Given the description of an element on the screen output the (x, y) to click on. 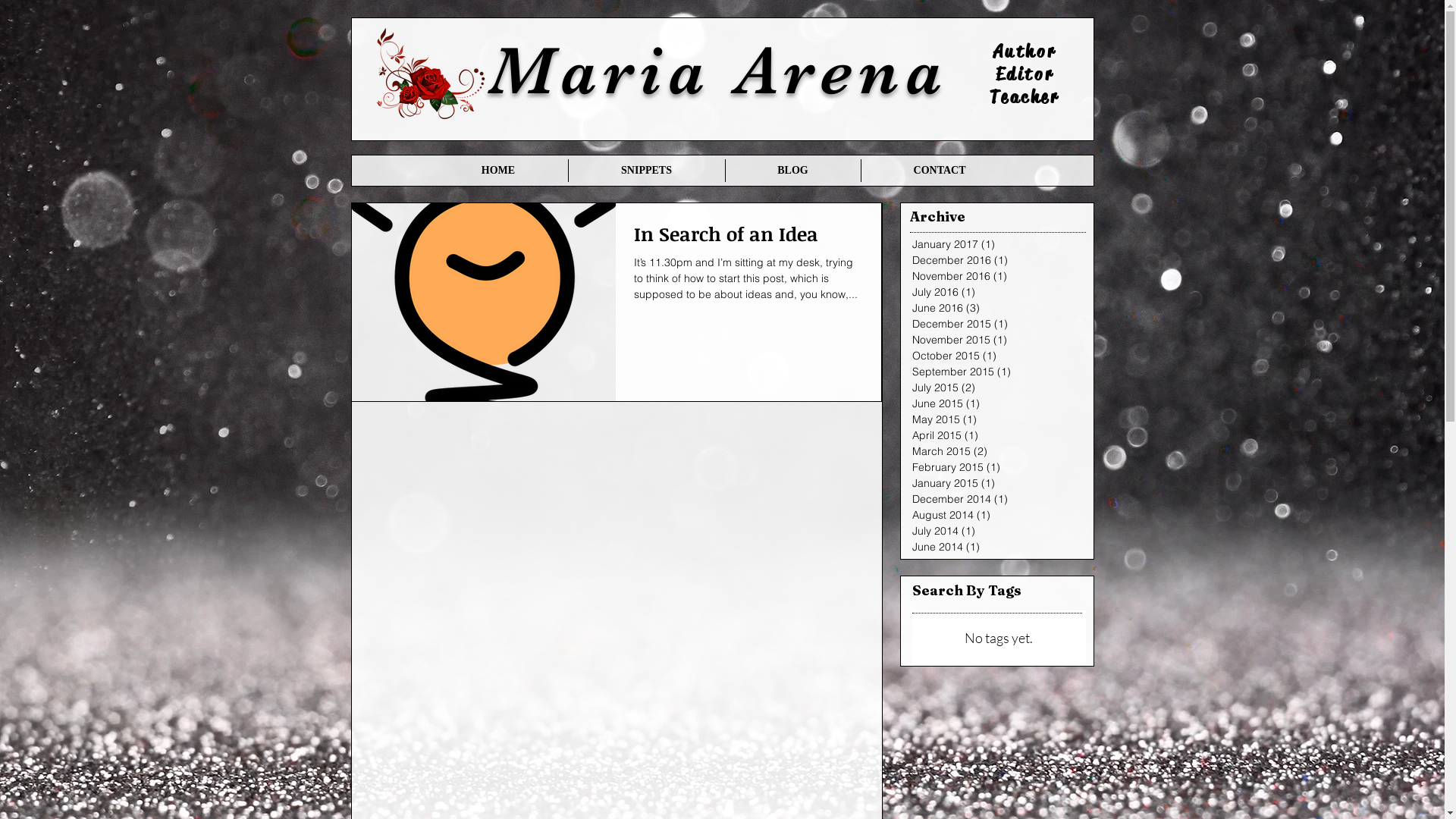
July 2015 (2) Element type: text (992, 387)
November 2015 (1) Element type: text (992, 340)
December 2015 (1) Element type: text (992, 324)
July 2016 (1) Element type: text (992, 292)
November 2016 (1) Element type: text (992, 276)
September 2015 (1) Element type: text (992, 371)
SNIPPETS Element type: text (646, 170)
May 2015 (1) Element type: text (992, 419)
June 2016 (3) Element type: text (992, 308)
BLOG Element type: text (791, 170)
June 2014 (1) Element type: text (992, 547)
October 2015 (1) Element type: text (992, 356)
January 2015 (1) Element type: text (992, 483)
August 2014 (1) Element type: text (992, 515)
January 2017 (1) Element type: text (992, 244)
December 2016 (1) Element type: text (992, 260)
HOME Element type: text (498, 170)
February 2015 (1) Element type: text (992, 467)
March 2015 (2) Element type: text (992, 451)
June 2015 (1) Element type: text (992, 403)
In Search of an Idea Element type: text (747, 237)
CONTACT Element type: text (939, 170)
July 2014 (1) Element type: text (992, 531)
April 2015 (1) Element type: text (992, 435)
December 2014 (1) Element type: text (992, 499)
